Given the description of an element on the screen output the (x, y) to click on. 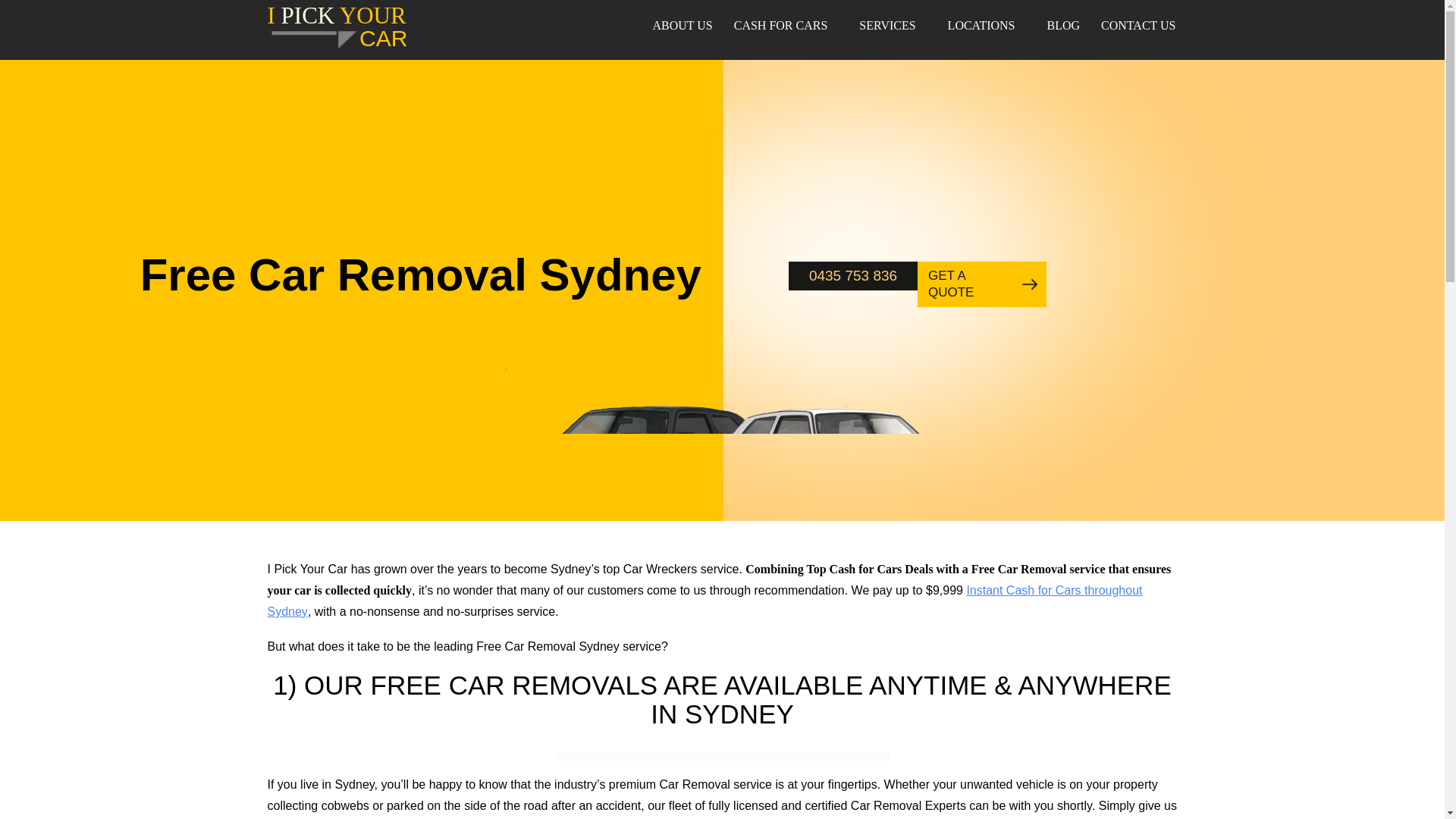
CASH FOR CARS (785, 25)
BLOG (1063, 25)
0435 753 836 (853, 275)
CONTACT US (1133, 25)
SERVICES (892, 25)
ABOUT US (686, 25)
Instant Cash for Cars throughout Sydney (703, 600)
Locations (986, 25)
About Us (686, 25)
Car Removal (337, 29)
GET A QUOTE (981, 284)
LOCATIONS (986, 25)
Cash For Cars Sydney (337, 29)
Services (785, 25)
